Given the description of an element on the screen output the (x, y) to click on. 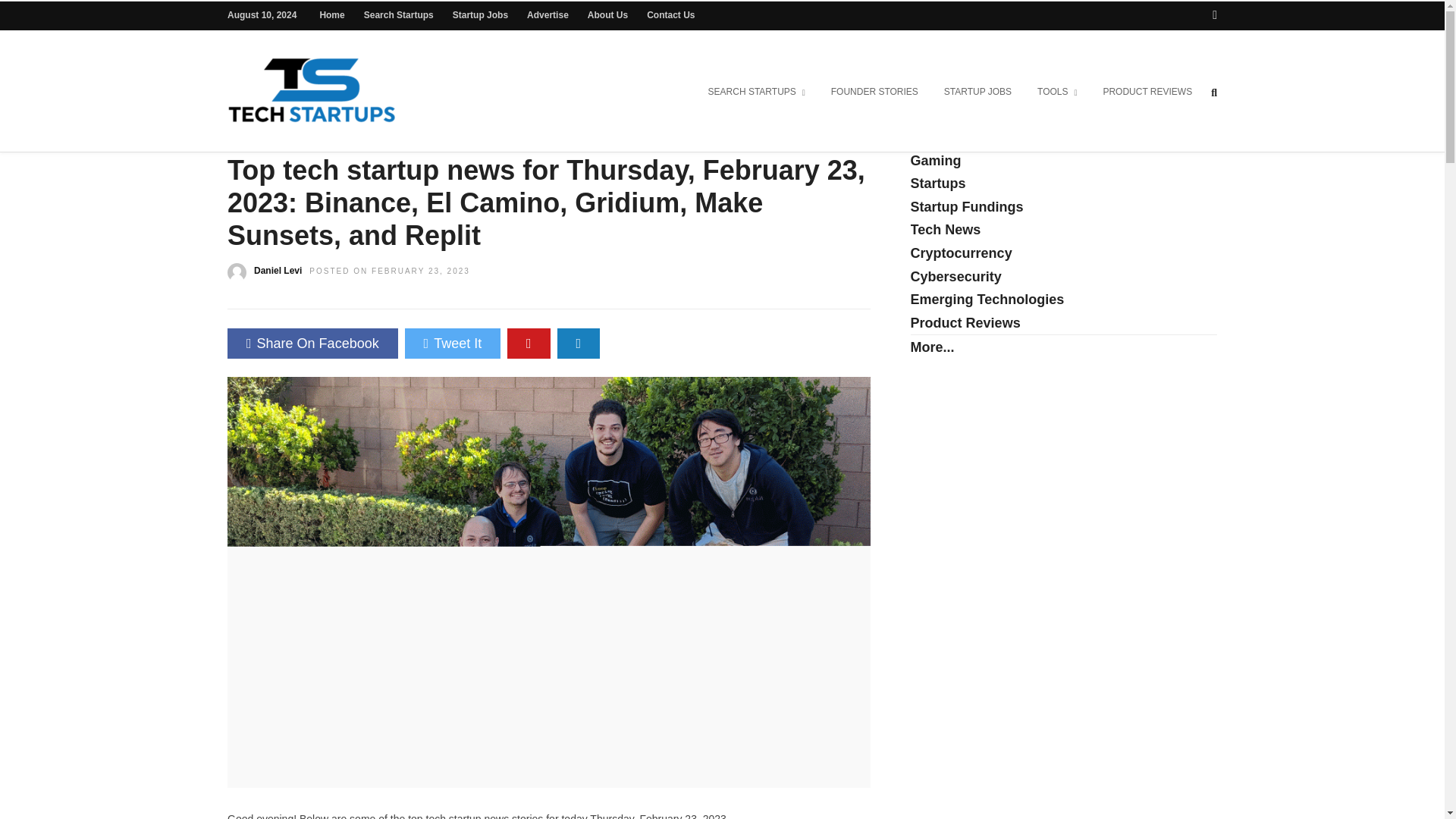
PRODUCT REVIEWS (1147, 92)
TOOLS (1057, 92)
Contact Us (670, 14)
Home (330, 14)
STARTUPS (543, 122)
Search Startups (398, 14)
TECH STARTUPS (751, 122)
Daniel Levi (277, 270)
Advertise (548, 14)
STARTUP FUNDING (329, 122)
